Given the description of an element on the screen output the (x, y) to click on. 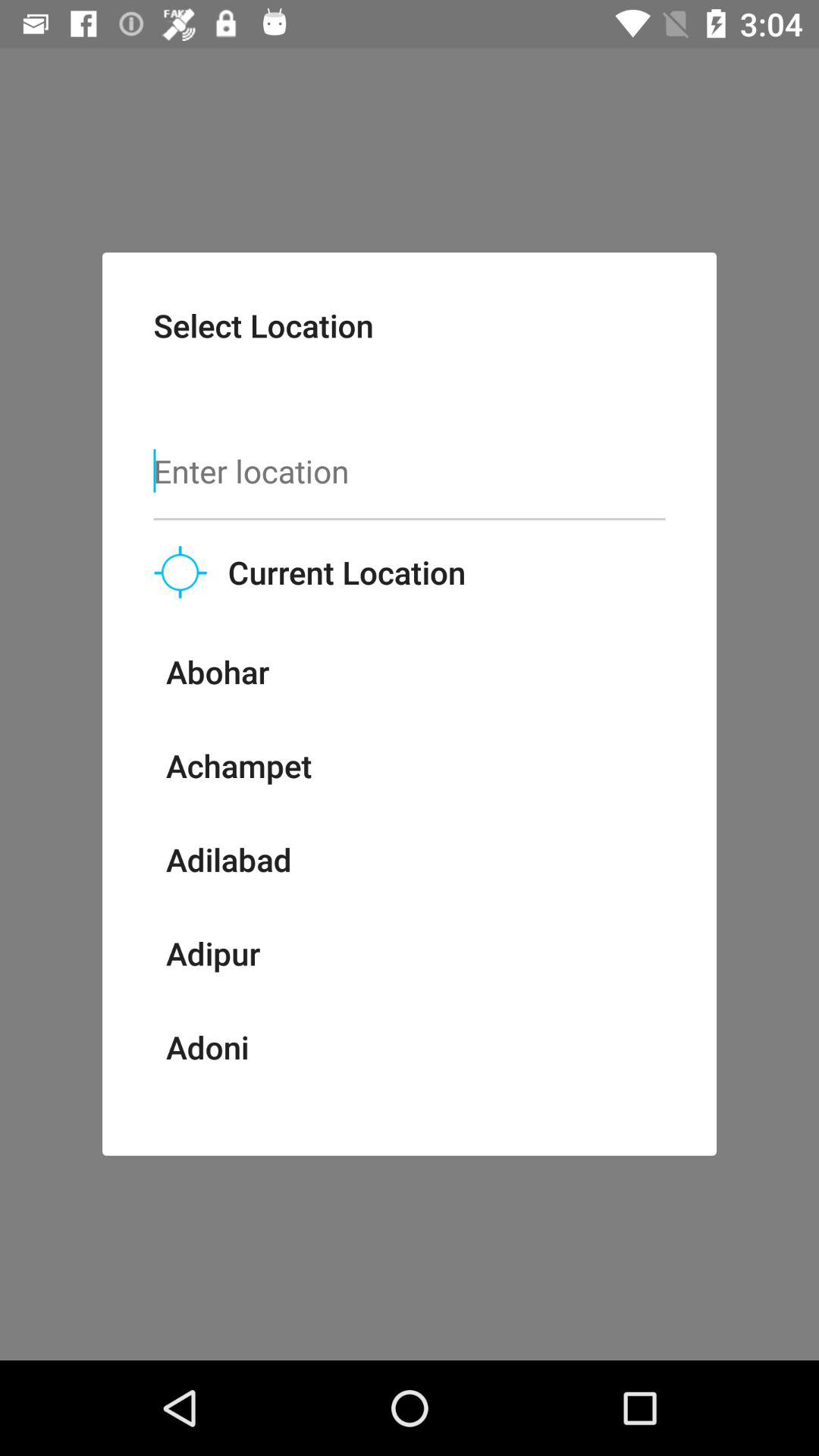
turn on icon above the agra item (207, 1046)
